Given the description of an element on the screen output the (x, y) to click on. 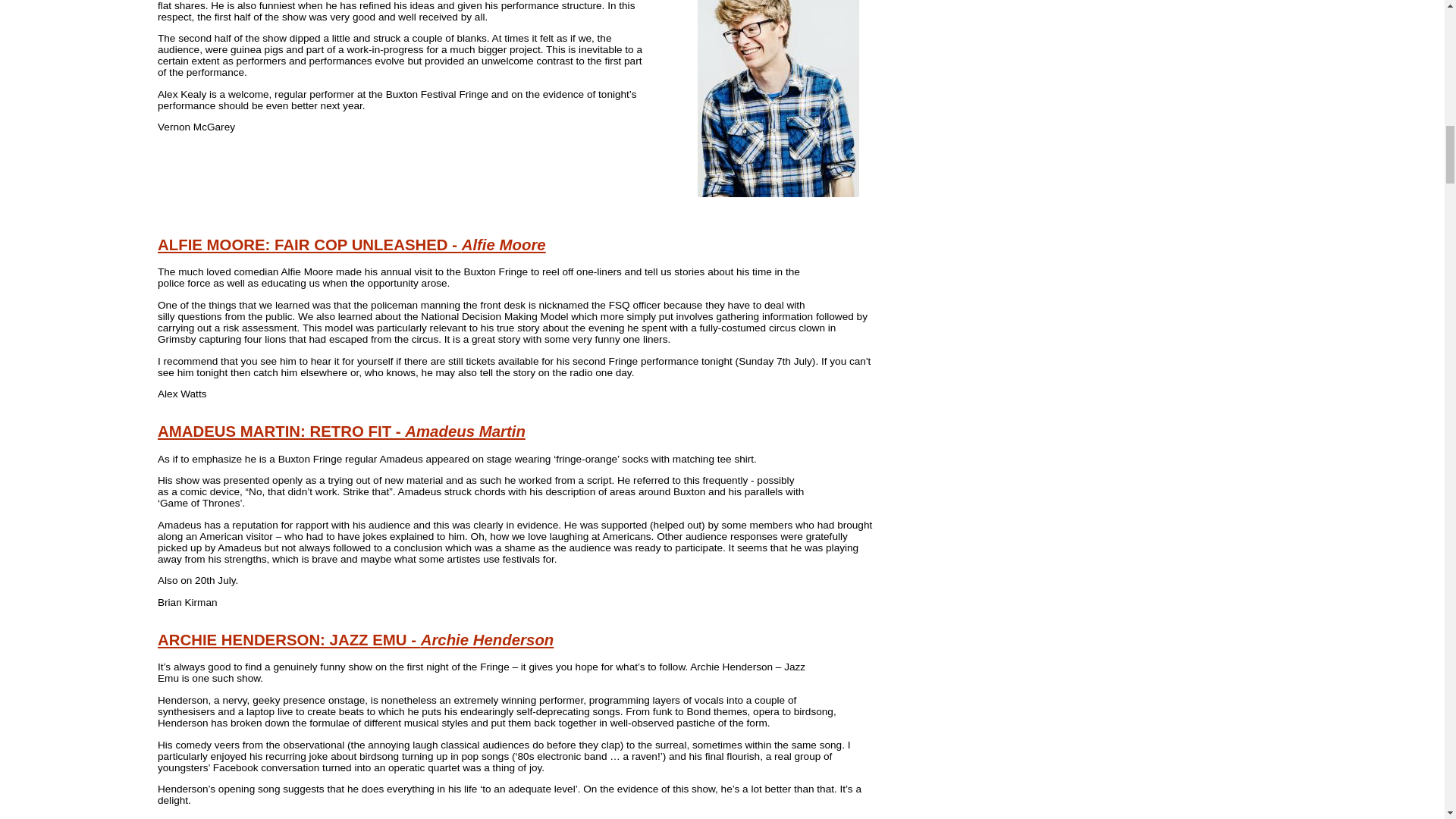
ALFIE MOORE: FAIR COP UNLEASHED - Alfie Moore (351, 244)
AMADEUS MARTIN: RETRO FIT - Amadeus Martin (341, 431)
ARCHIE HENDERSON: JAZZ EMU - Archie Henderson (355, 639)
